Given the description of an element on the screen output the (x, y) to click on. 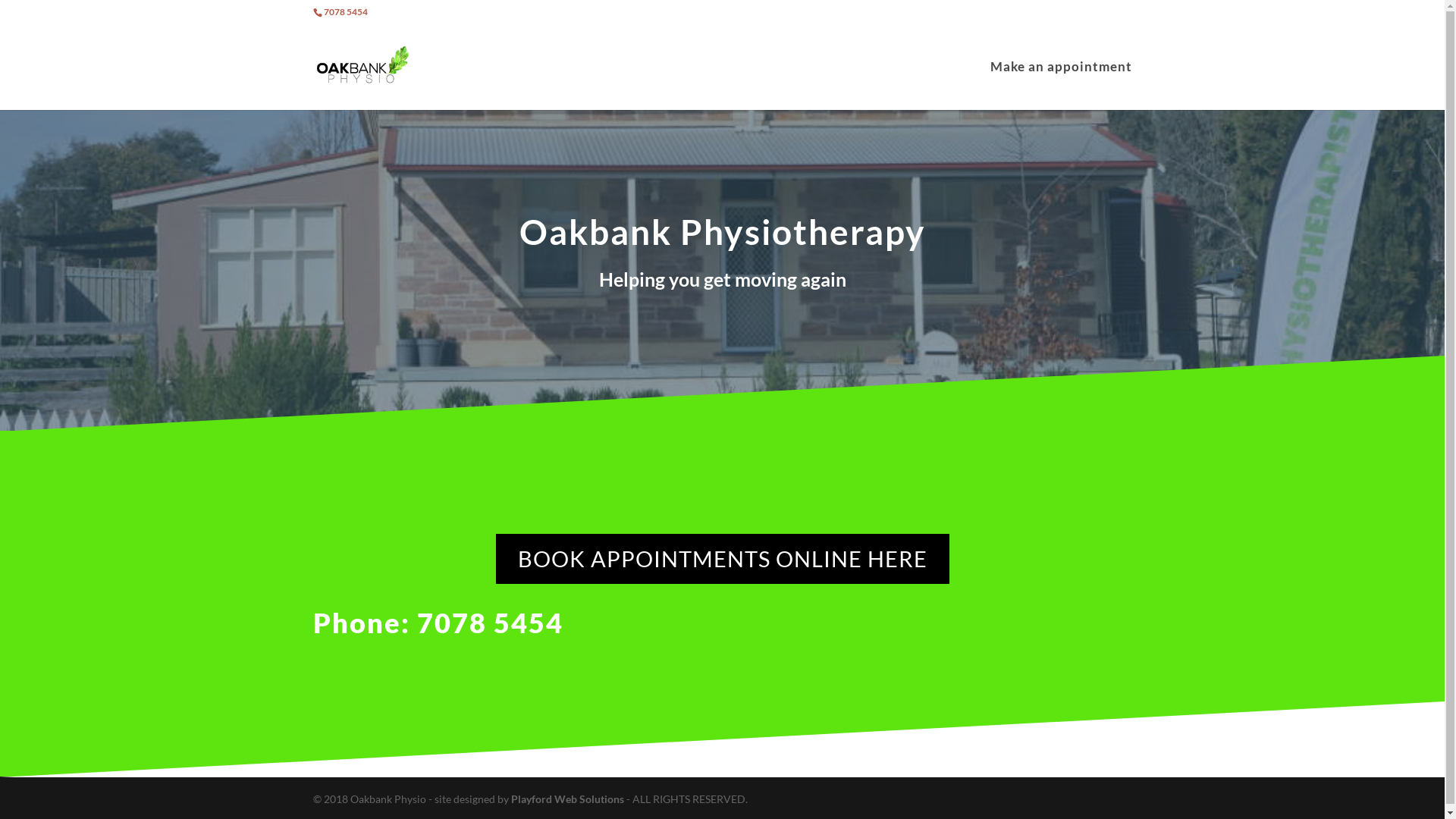
BOOK APPOINTMENTS ONLINE HERE Element type: text (722, 558)
Make an appointment Element type: text (1061, 85)
Playford Web Solutions Element type: text (568, 798)
